Given the description of an element on the screen output the (x, y) to click on. 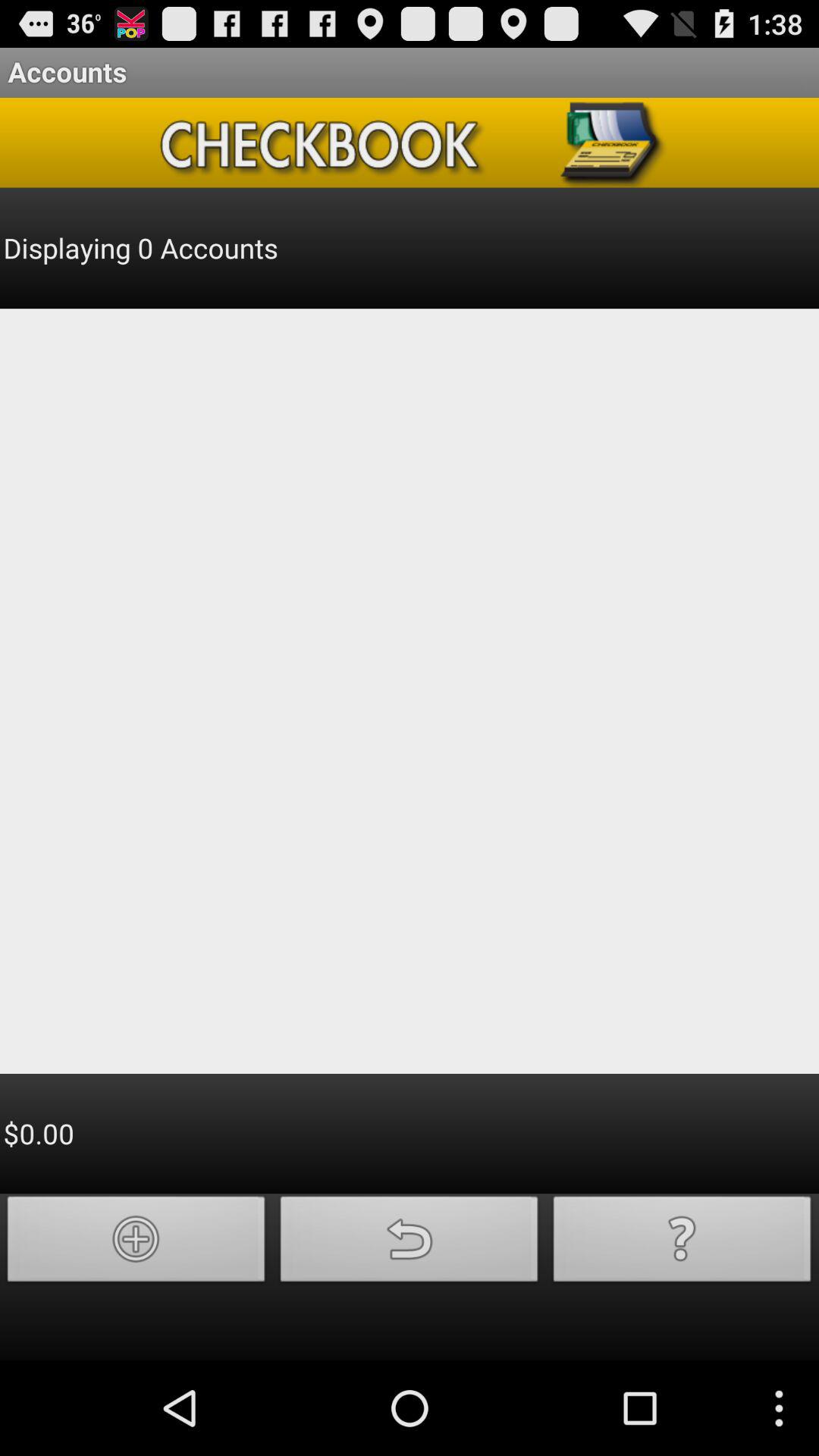
go to help (682, 1243)
